Given the description of an element on the screen output the (x, y) to click on. 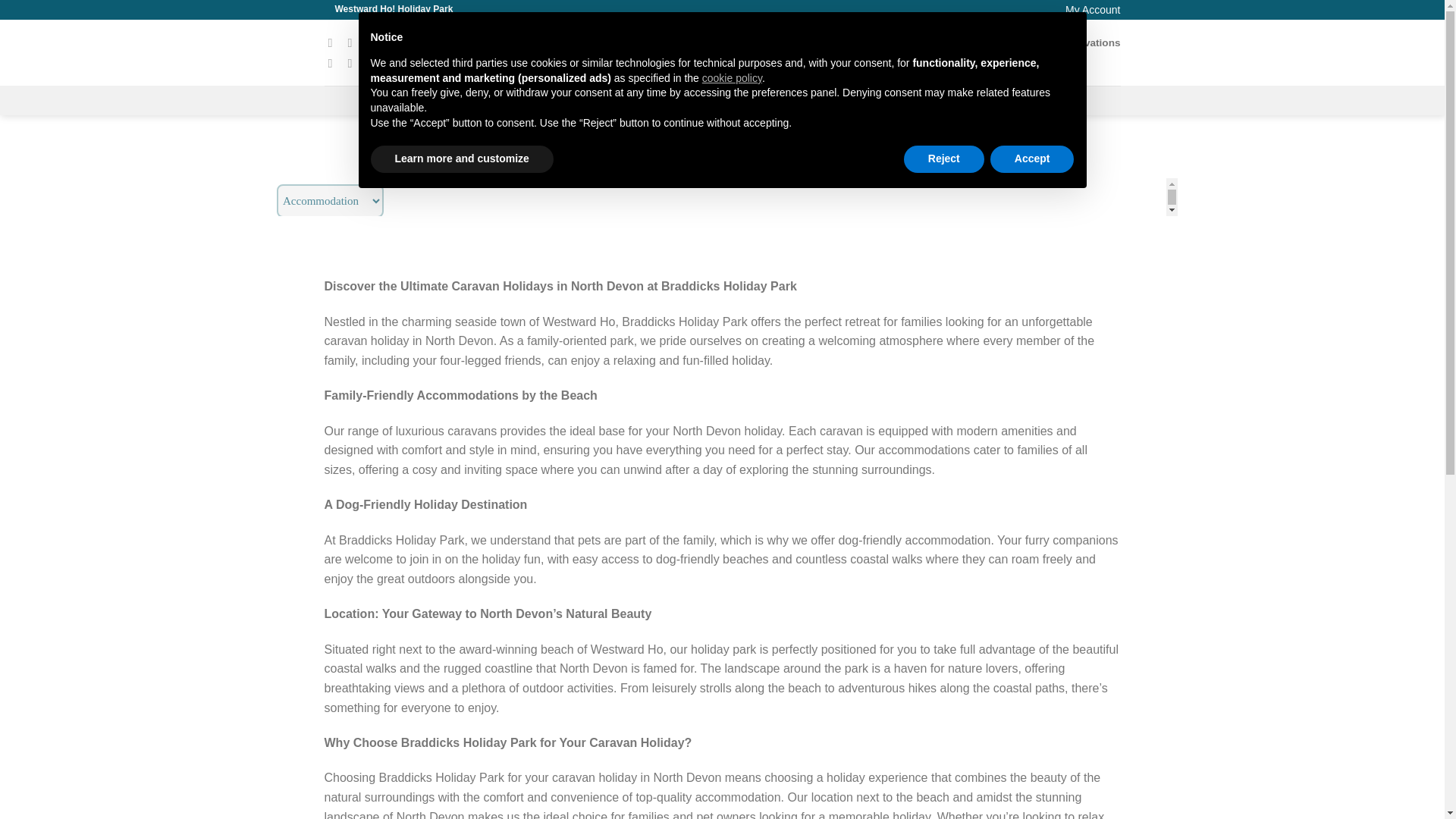
LOCAL AREA (774, 100)
ACCOMMODATION (507, 100)
LAST MINUTE DEALS (968, 100)
CONTACT US (706, 100)
Follow on TikTok (374, 42)
Braddicks Holidays - Holiday Accommodation North Devon (722, 52)
My Account (1092, 9)
Follow on Instagram (353, 42)
Follow on YouTube (353, 62)
LiveChat chat widget (1307, 788)
HOME (443, 100)
